Given the description of an element on the screen output the (x, y) to click on. 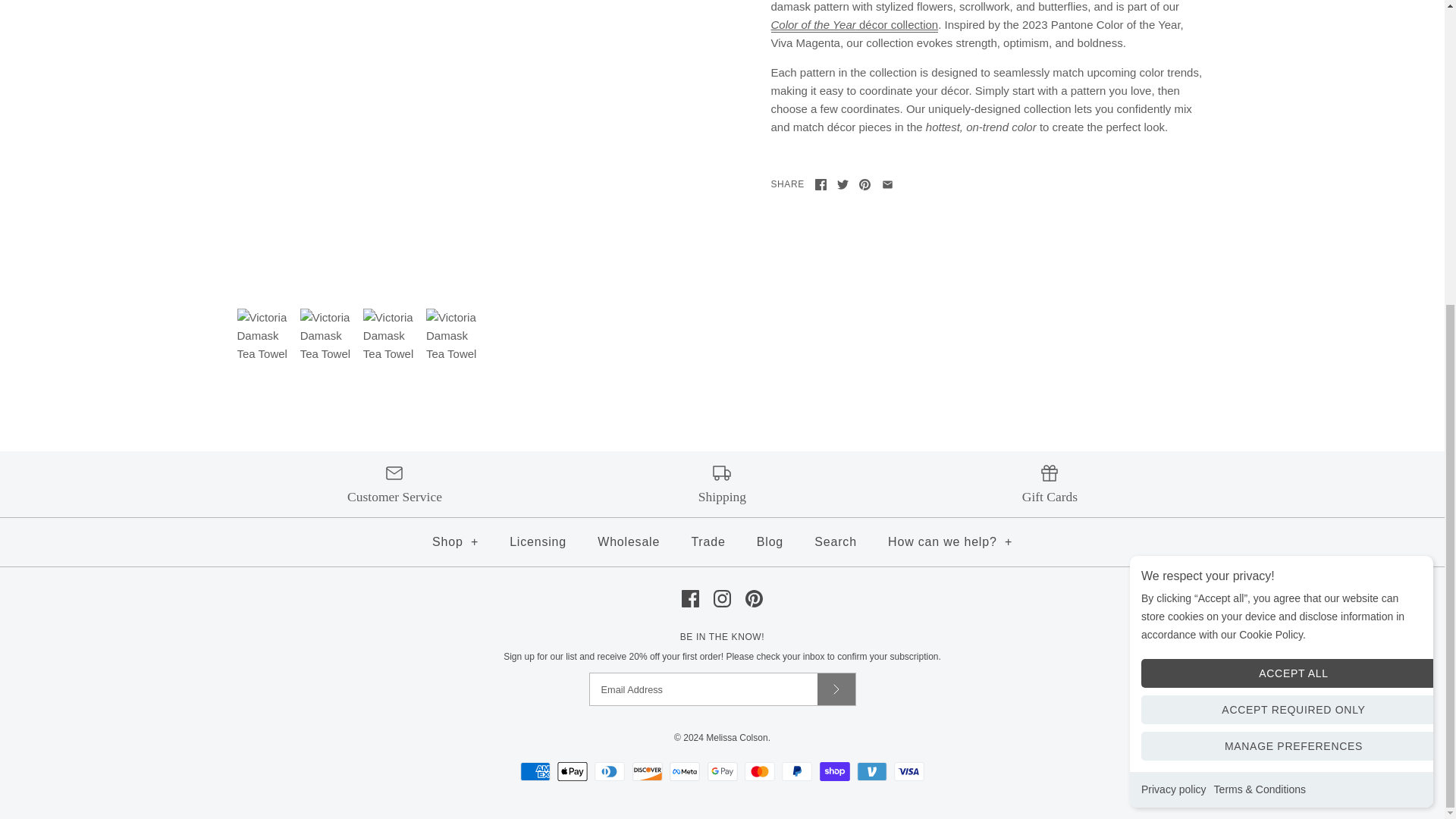
Discover (646, 771)
Meta Pay (684, 771)
Share on Facebook (821, 184)
Color of the Year Collection (896, 25)
Victoria Damask Tea Towel in Viva Magenta - Melissa Colson (453, 336)
Email (887, 184)
Diners Club (609, 771)
Pinterest (753, 598)
Twitter (842, 184)
Instagram (721, 598)
